Given the description of an element on the screen output the (x, y) to click on. 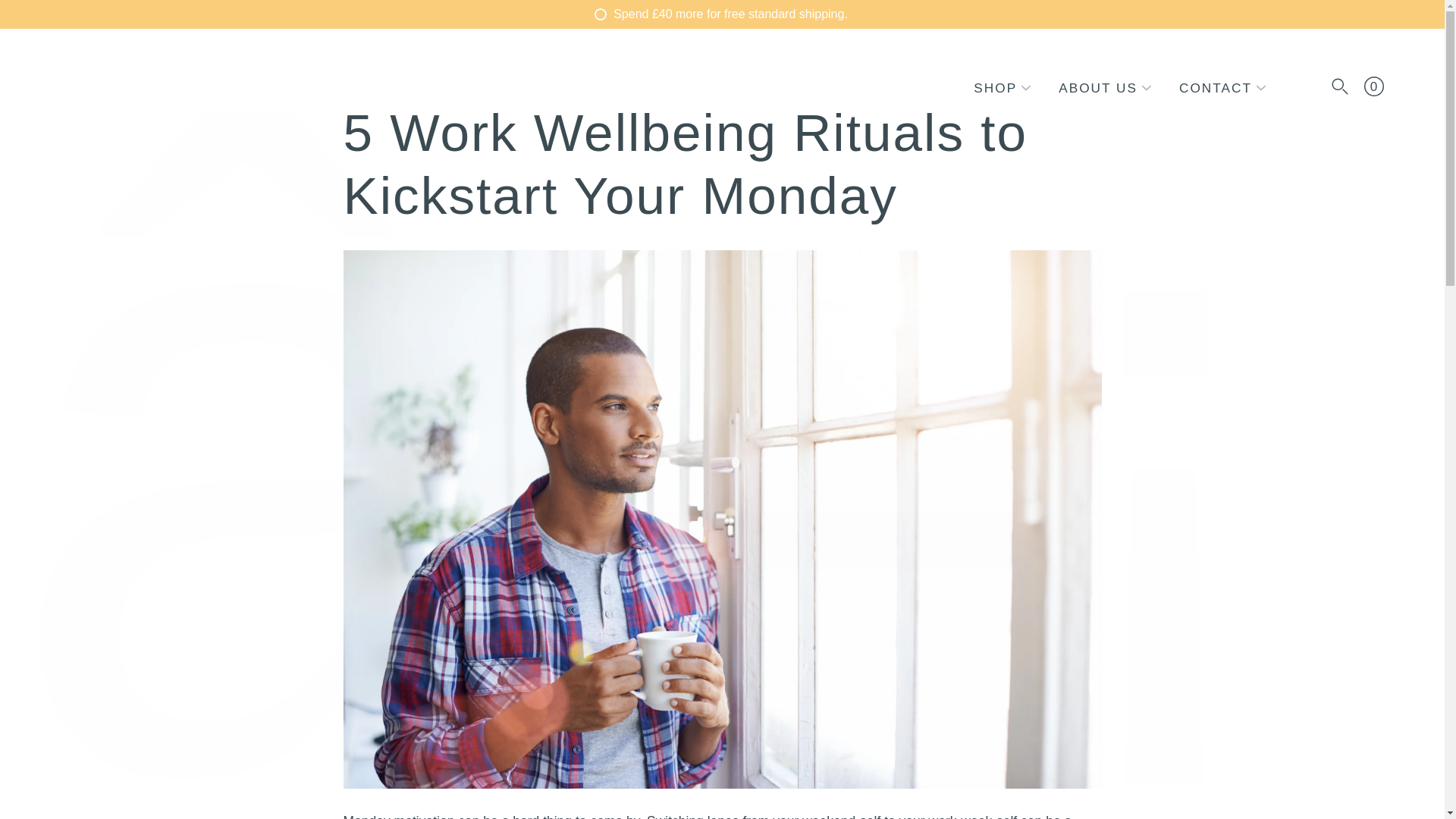
CONTACT (1215, 87)
SHOP (995, 87)
ABOUT US (1097, 87)
